Given the description of an element on the screen output the (x, y) to click on. 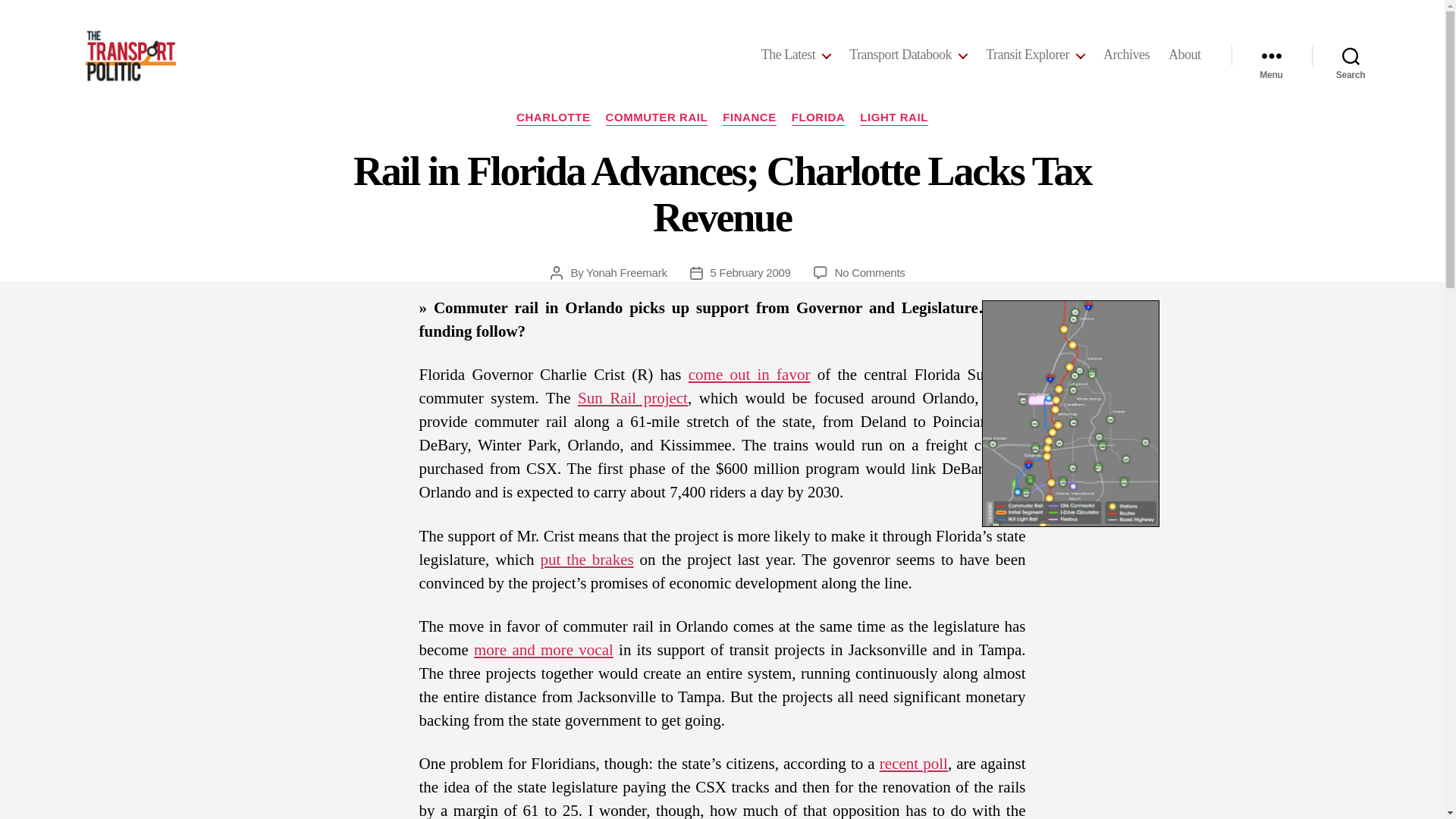
Transit Explorer (1034, 54)
Sun Rail Map (1069, 413)
Archives (1126, 54)
Search (1350, 55)
About (1185, 54)
The Latest (795, 54)
Transport Databook (907, 54)
Menu (1271, 55)
